Given the description of an element on the screen output the (x, y) to click on. 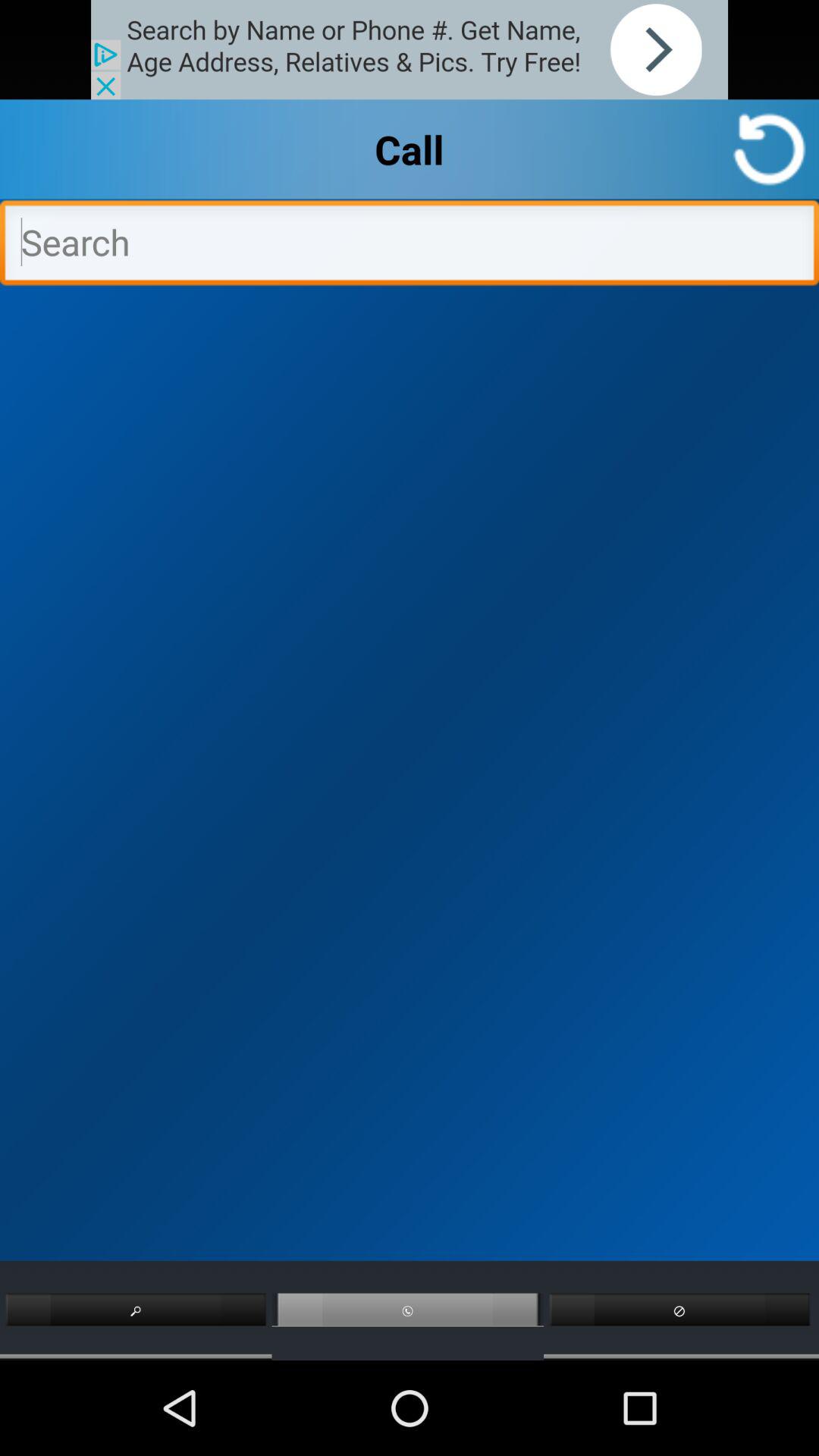
search calls (409, 246)
